Given the description of an element on the screen output the (x, y) to click on. 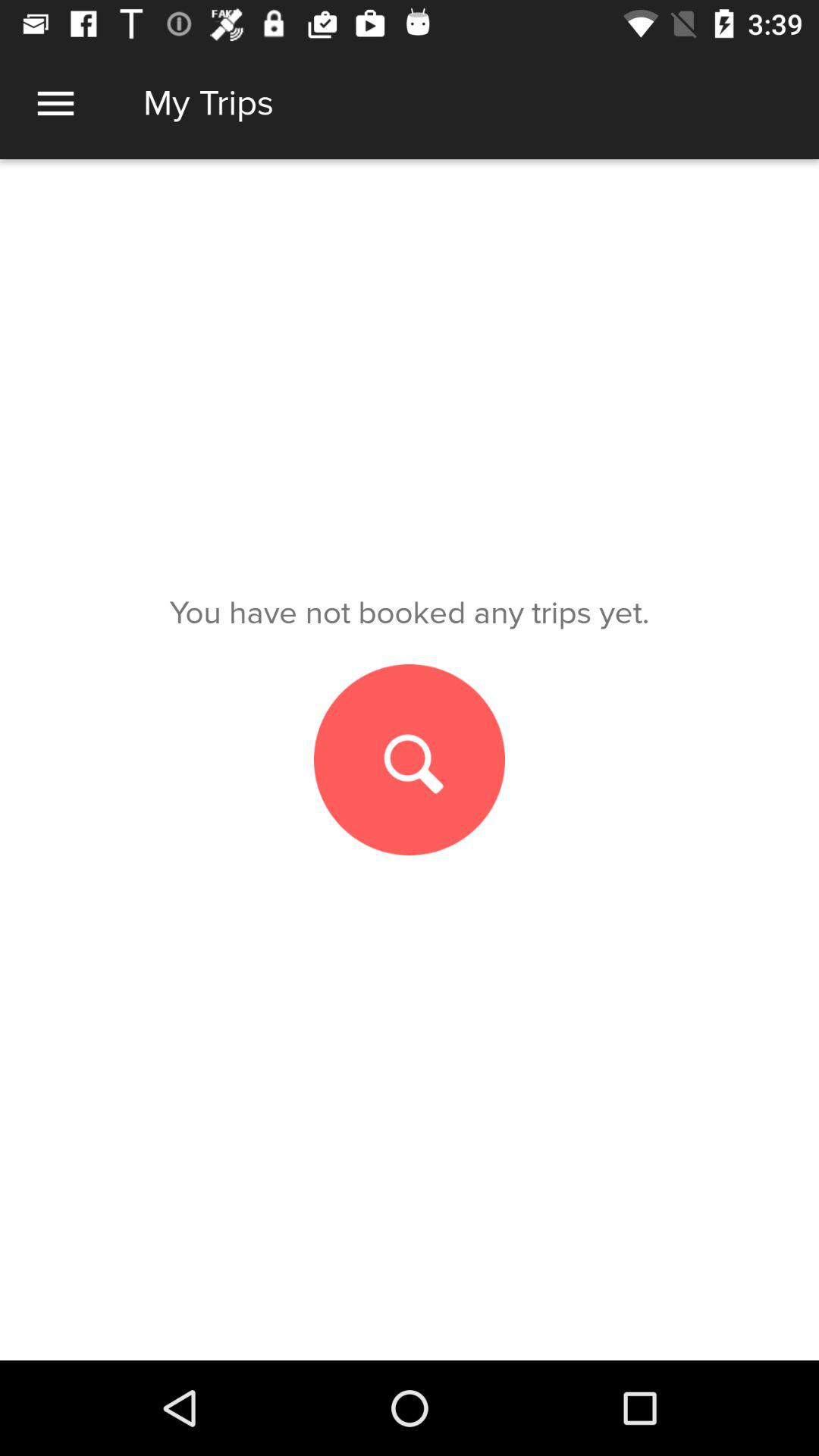
search for a trip to book (409, 759)
